Given the description of an element on the screen output the (x, y) to click on. 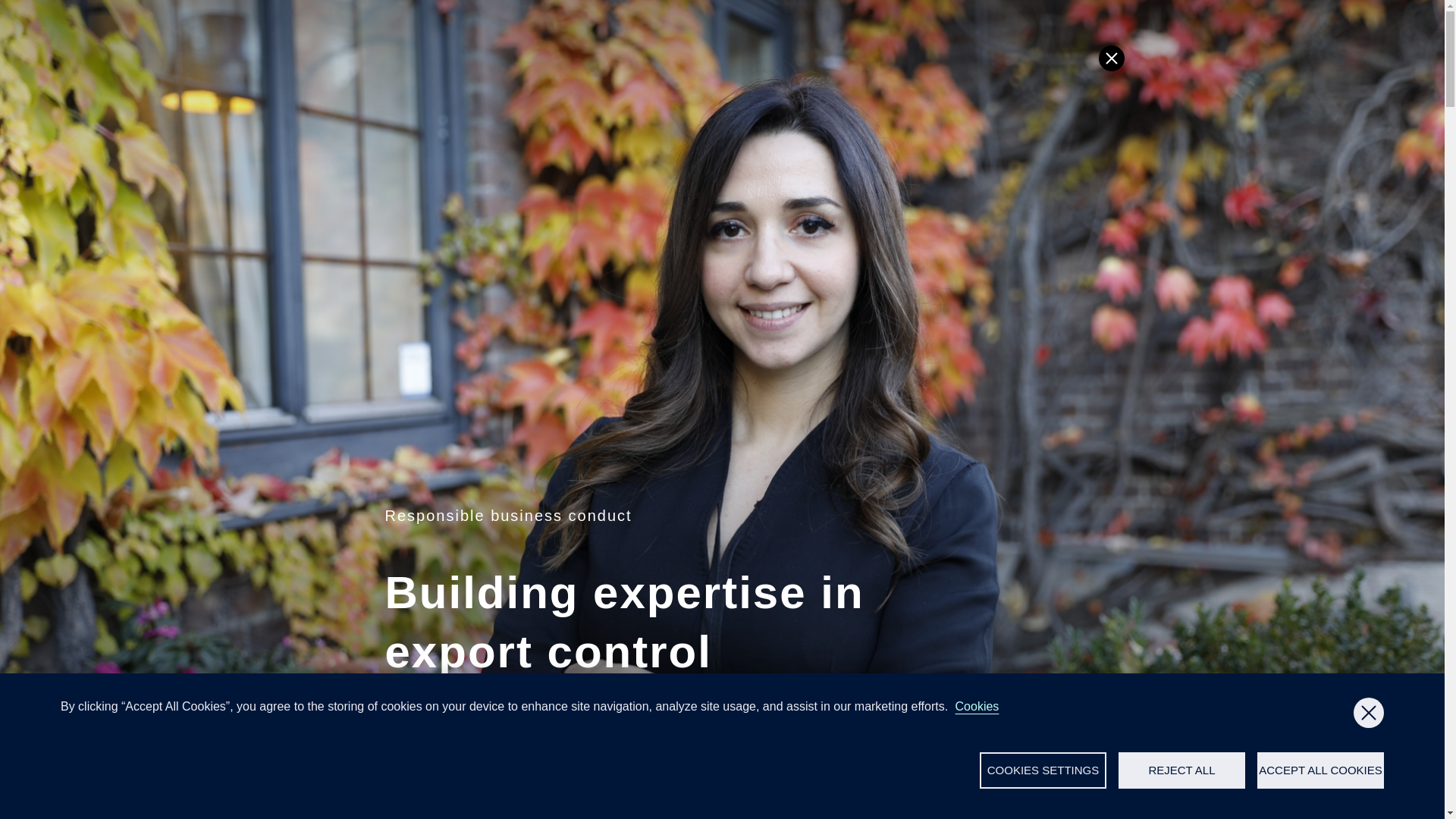
Our Stories (689, 726)
COOKIES SETTINGS (1042, 770)
Cookies (976, 706)
ACCEPT ALL COOKIES (1320, 770)
REJECT ALL (1181, 770)
Building expertise in export control (820, 726)
